Given the description of an element on the screen output the (x, y) to click on. 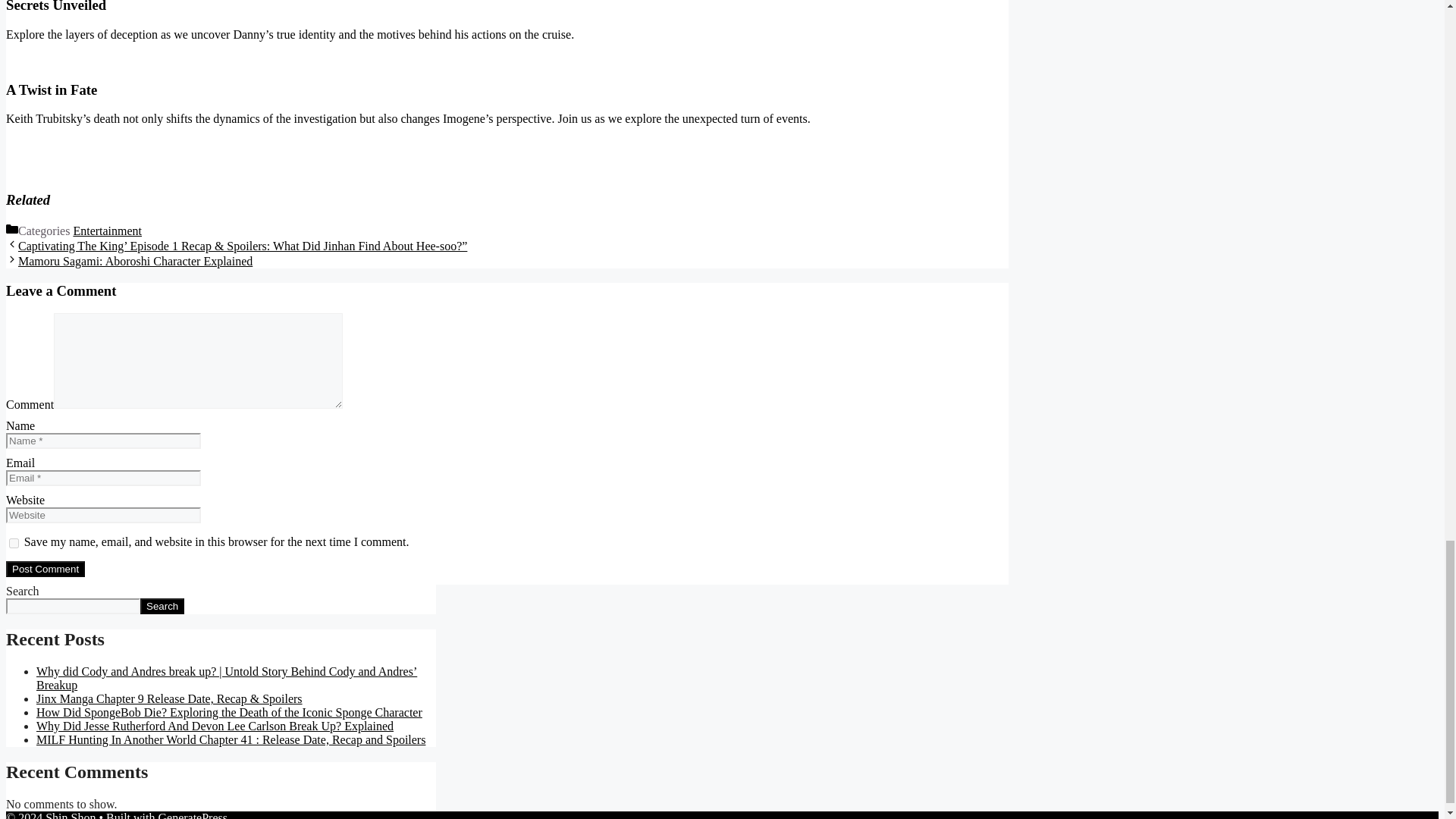
Search (161, 606)
Post Comment (44, 569)
Mamoru Sagami: Aboroshi Character Explained (134, 260)
yes (13, 542)
Post Comment (44, 569)
Entertainment (106, 230)
